Given the description of an element on the screen output the (x, y) to click on. 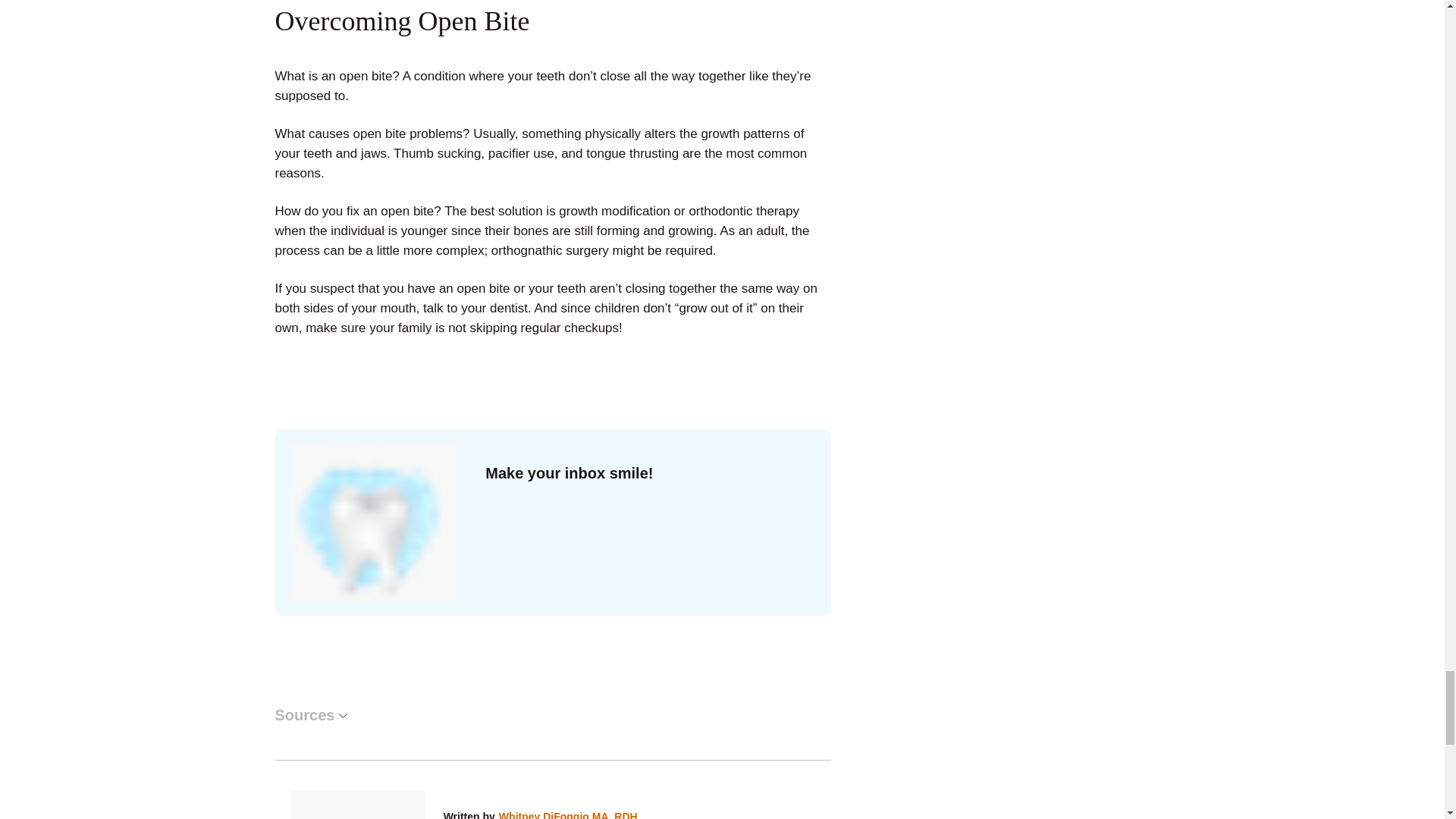
Sources (310, 715)
Whitney DiFoggio MA, RDH (568, 814)
